Given the description of an element on the screen output the (x, y) to click on. 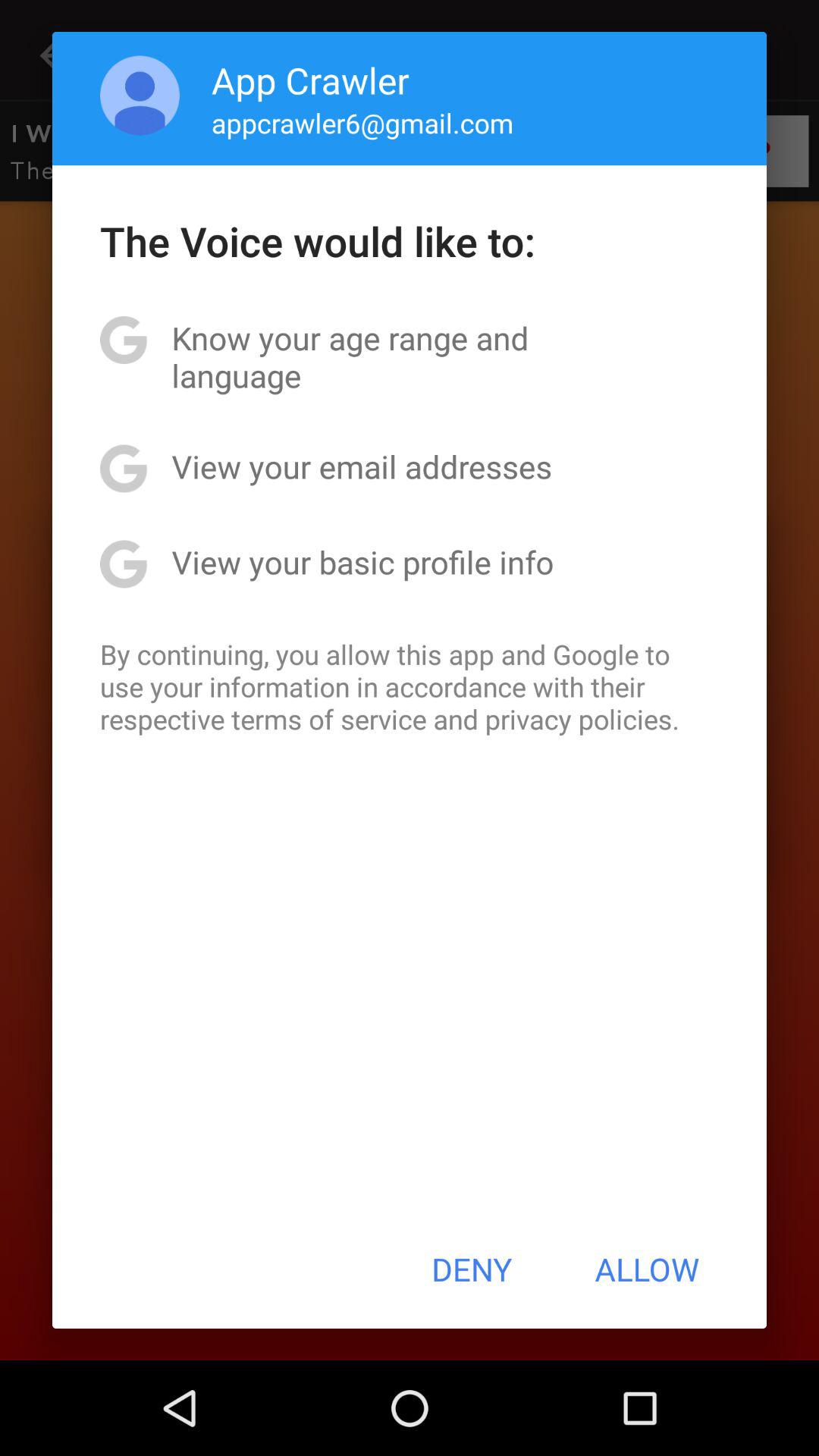
click the item above the the voice would (139, 95)
